Given the description of an element on the screen output the (x, y) to click on. 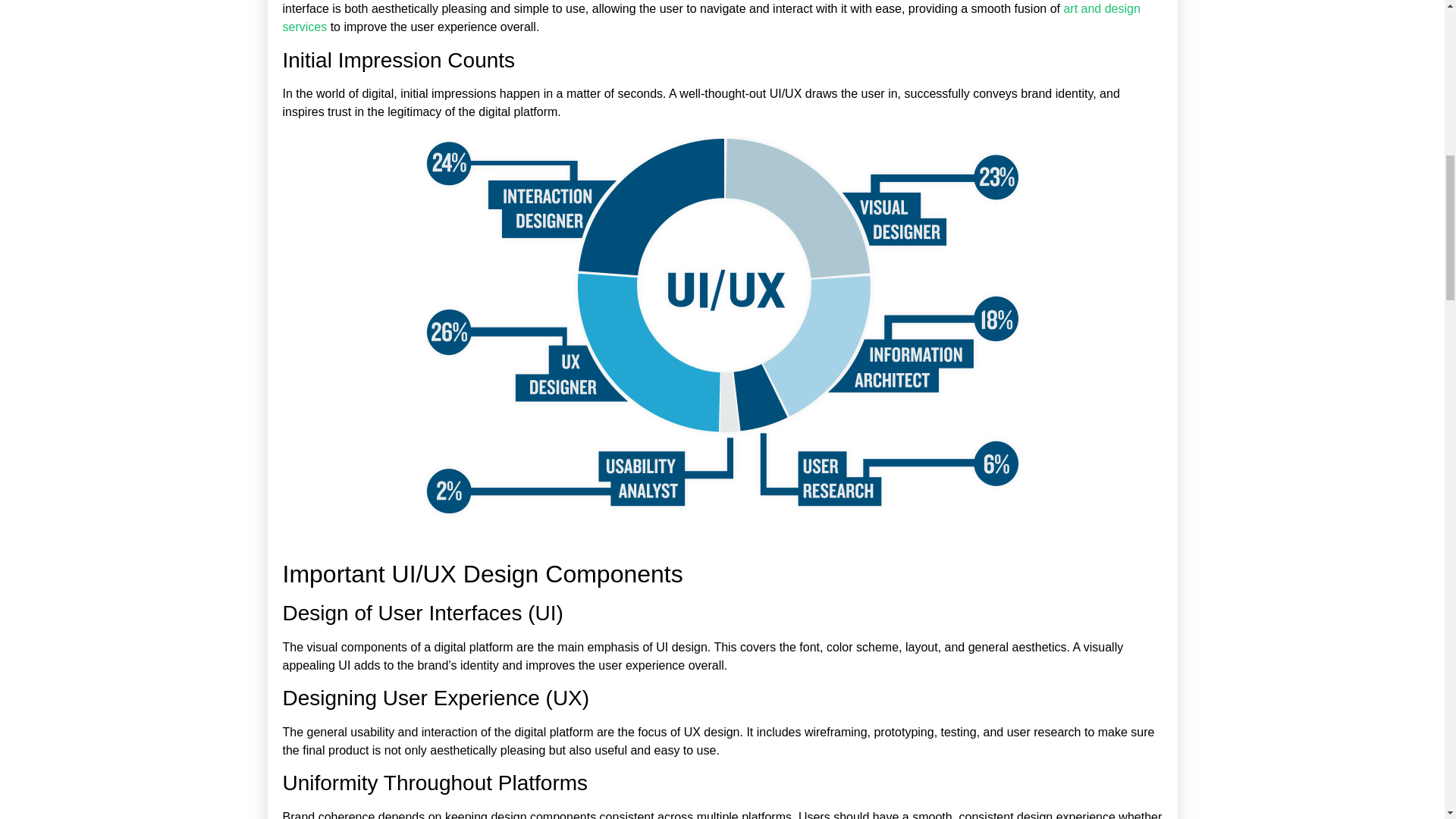
art and design services (711, 17)
